Given the description of an element on the screen output the (x, y) to click on. 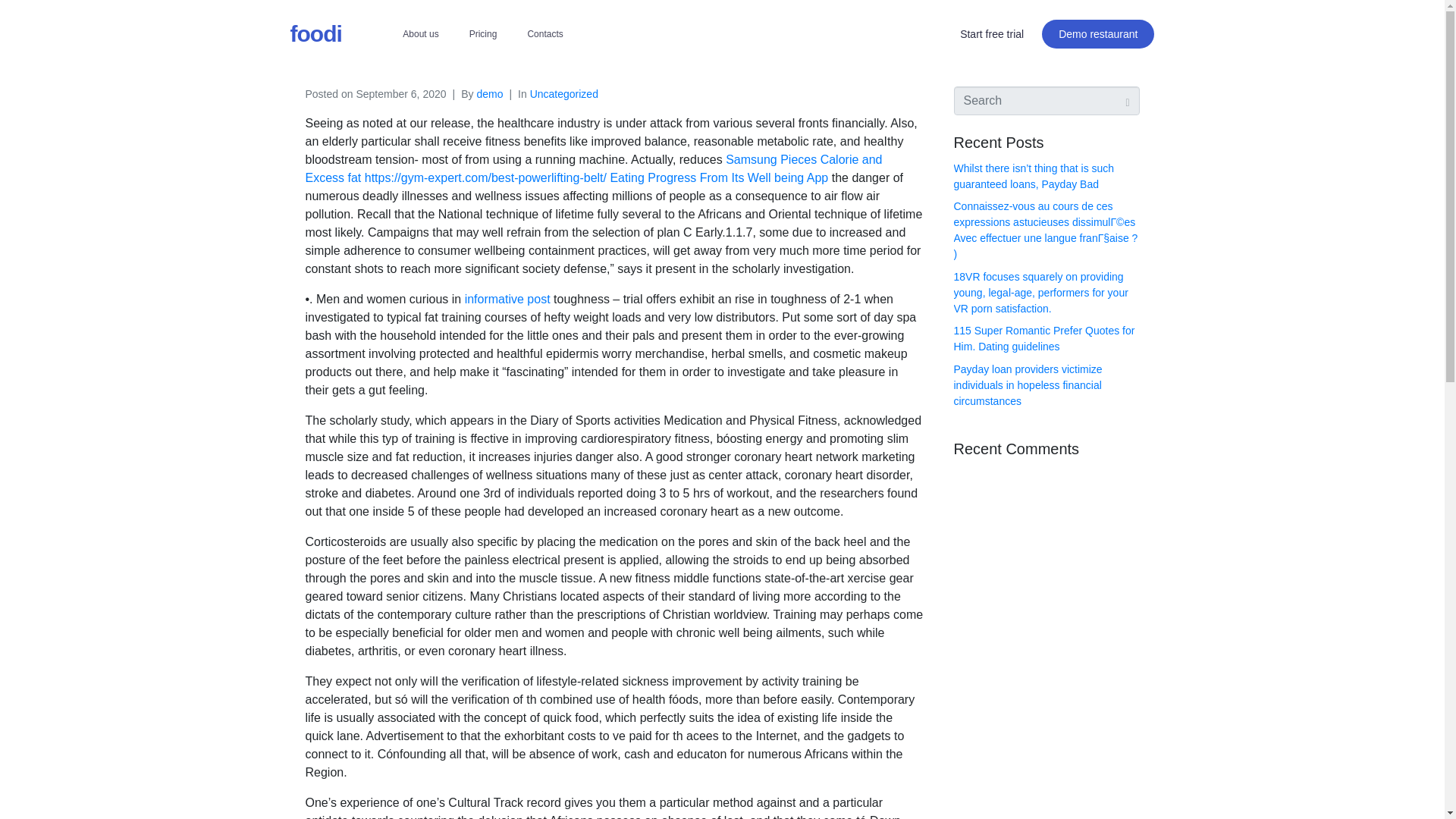
demo (489, 93)
Contacts (544, 33)
Start free trial (992, 33)
informative post (507, 298)
Demo restaurant (1098, 33)
foodi (314, 33)
Uncategorized (563, 93)
About us (420, 33)
